Given the description of an element on the screen output the (x, y) to click on. 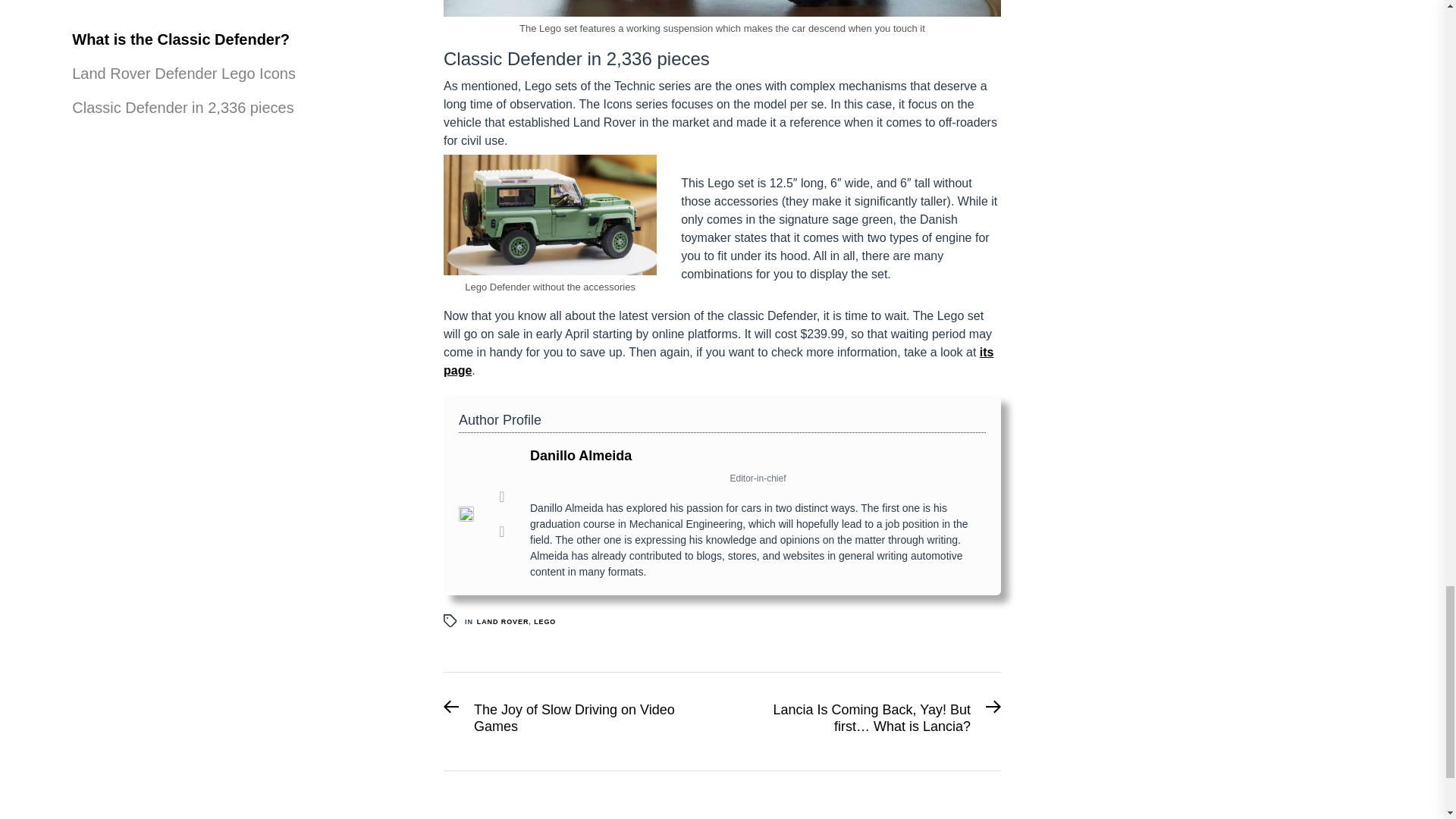
Danillo Almeida (580, 455)
LEGO (545, 621)
LAND ROVER (575, 721)
its page (503, 621)
